Given the description of an element on the screen output the (x, y) to click on. 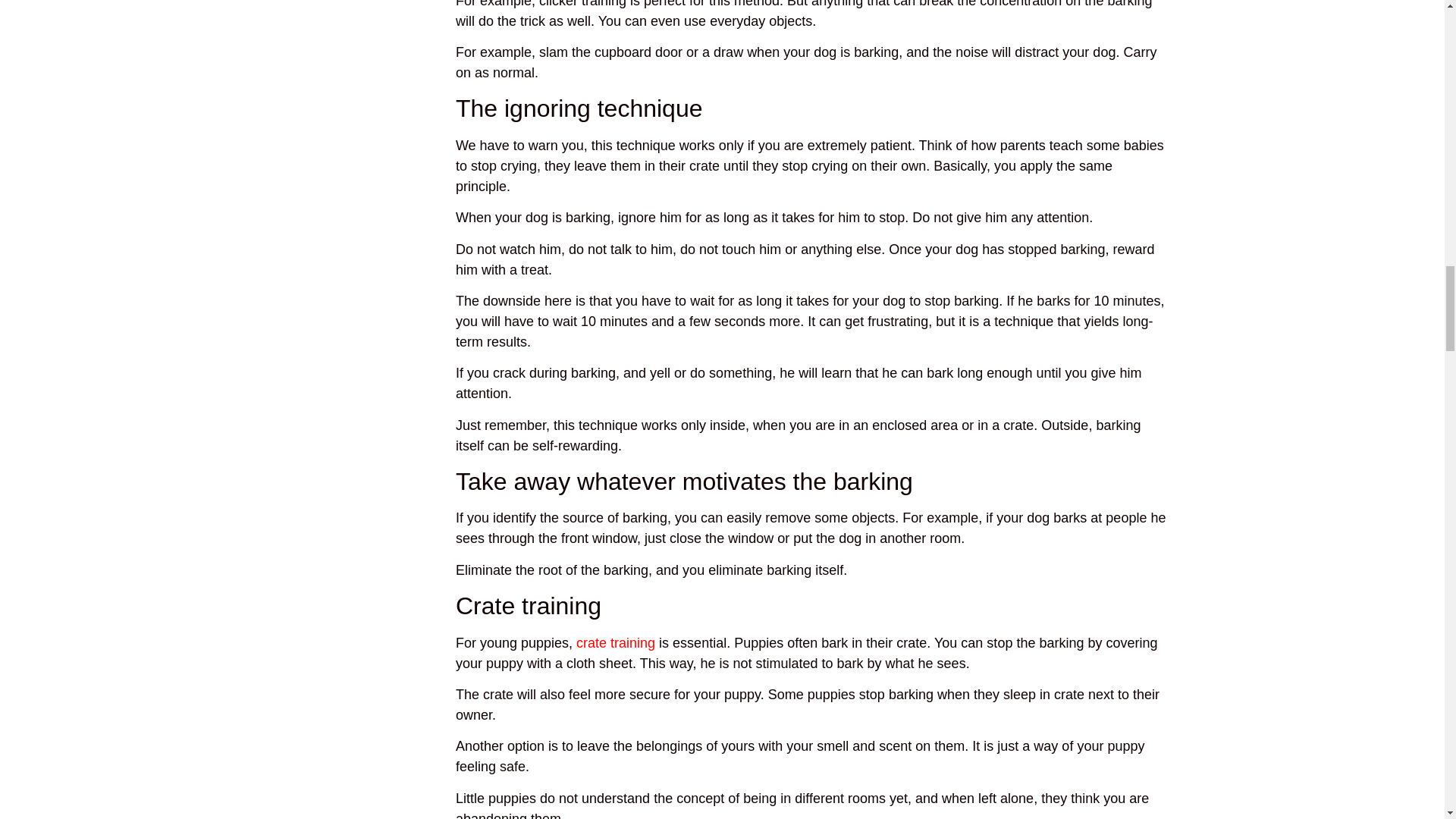
crate training (615, 642)
